Given the description of an element on the screen output the (x, y) to click on. 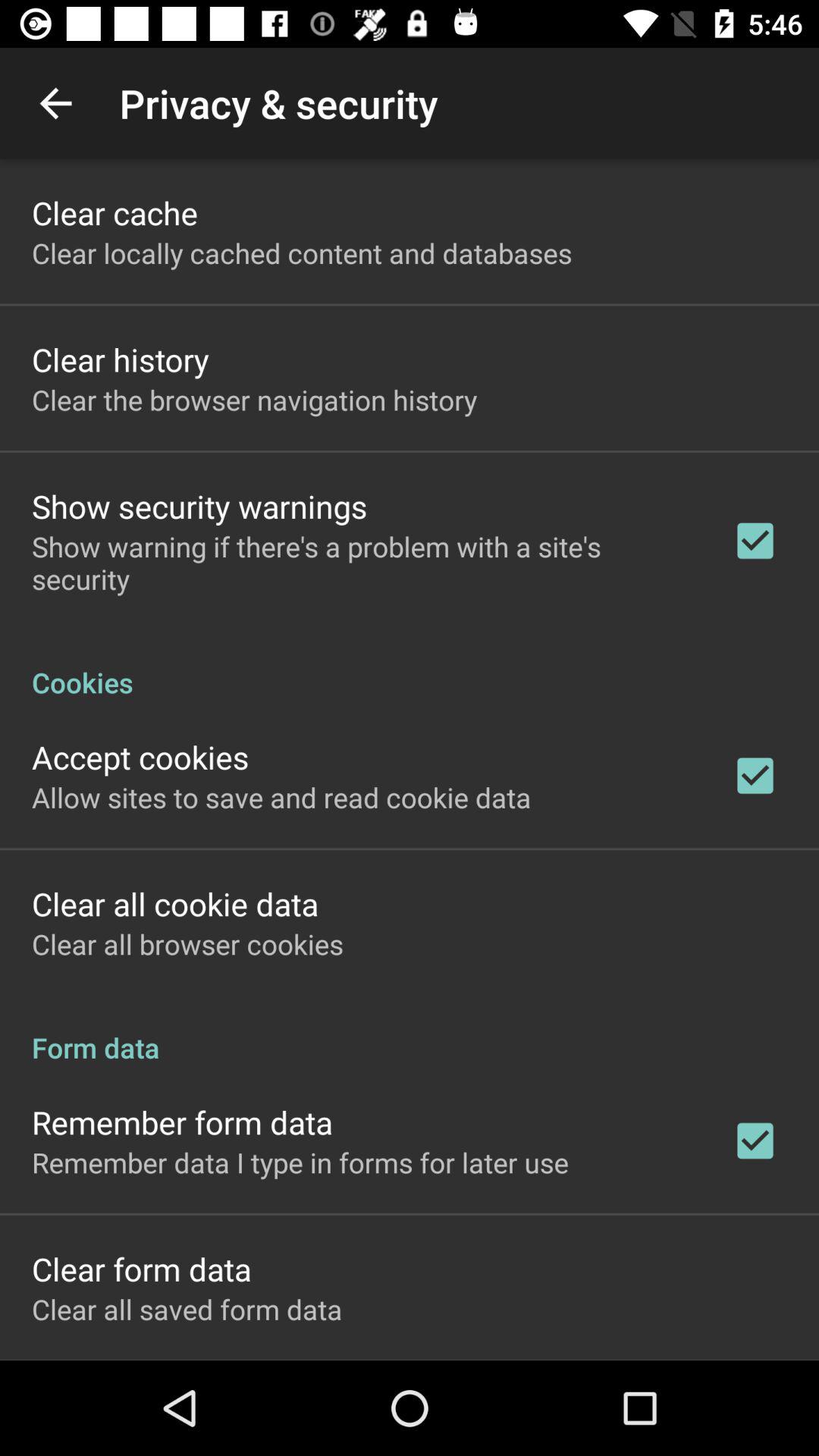
launch allow sites to (281, 797)
